Given the description of an element on the screen output the (x, y) to click on. 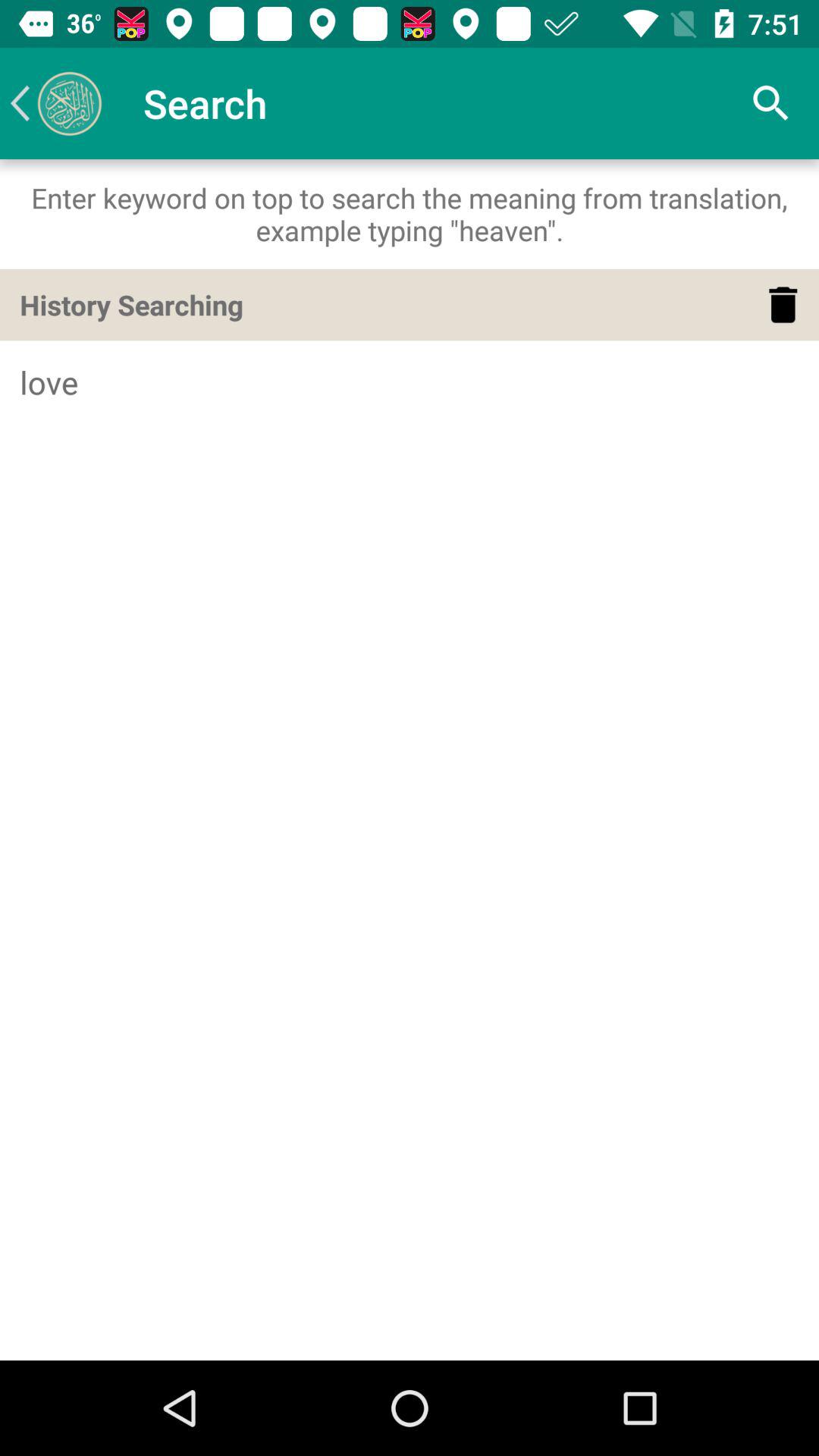
turn on item above love icon (783, 304)
